Given the description of an element on the screen output the (x, y) to click on. 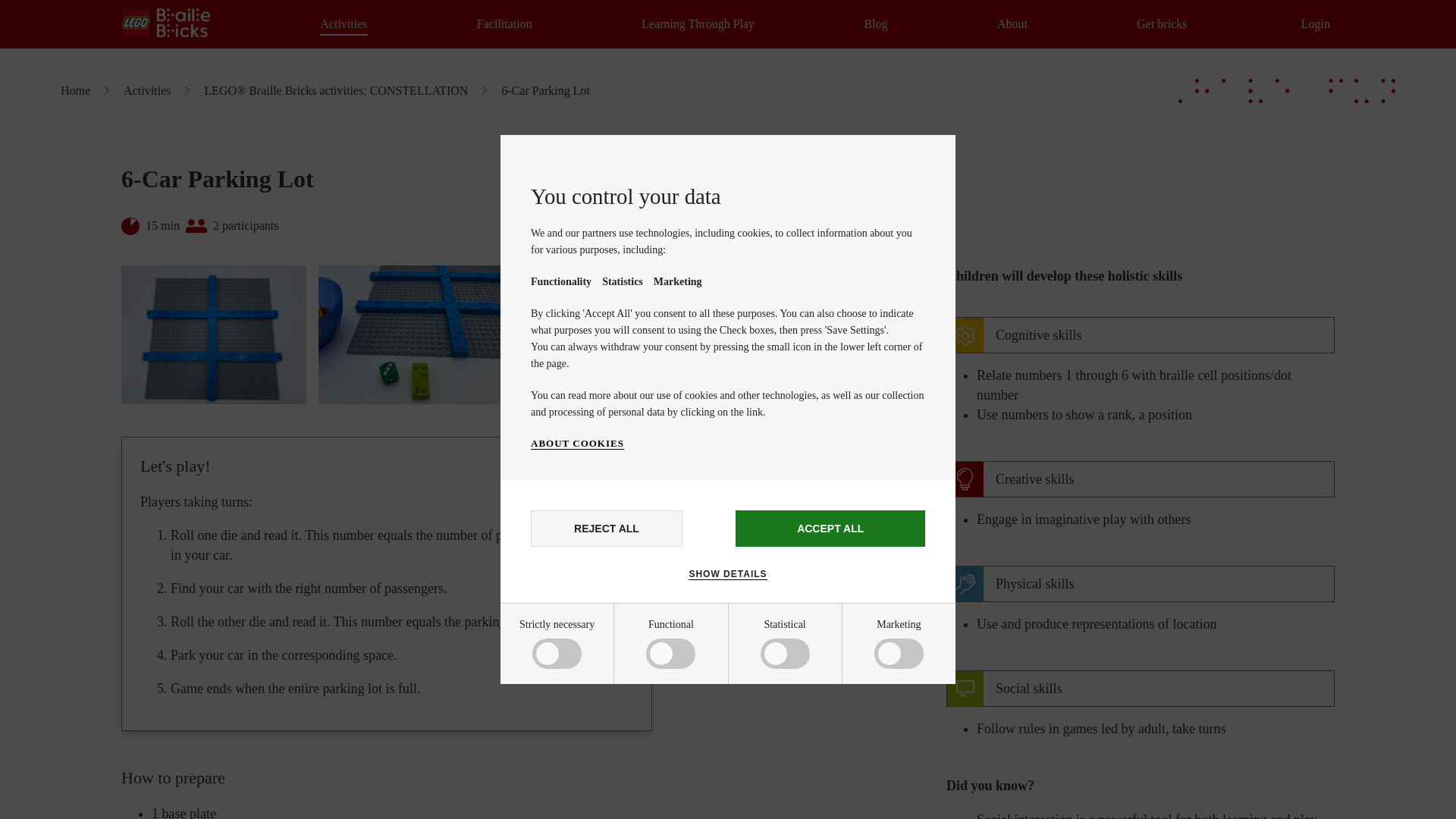
Marketing (585, 809)
REJECT ALL (606, 528)
About (1012, 24)
ABOUT COOKIES (577, 443)
Blog (874, 24)
Statistical (585, 766)
Activities (343, 24)
Learning Through Play (698, 24)
Facilitation (504, 24)
Strictly necessary (585, 657)
ACCEPT ALL (829, 528)
Functional (585, 714)
SHOW DETAILS (727, 573)
